Given the description of an element on the screen output the (x, y) to click on. 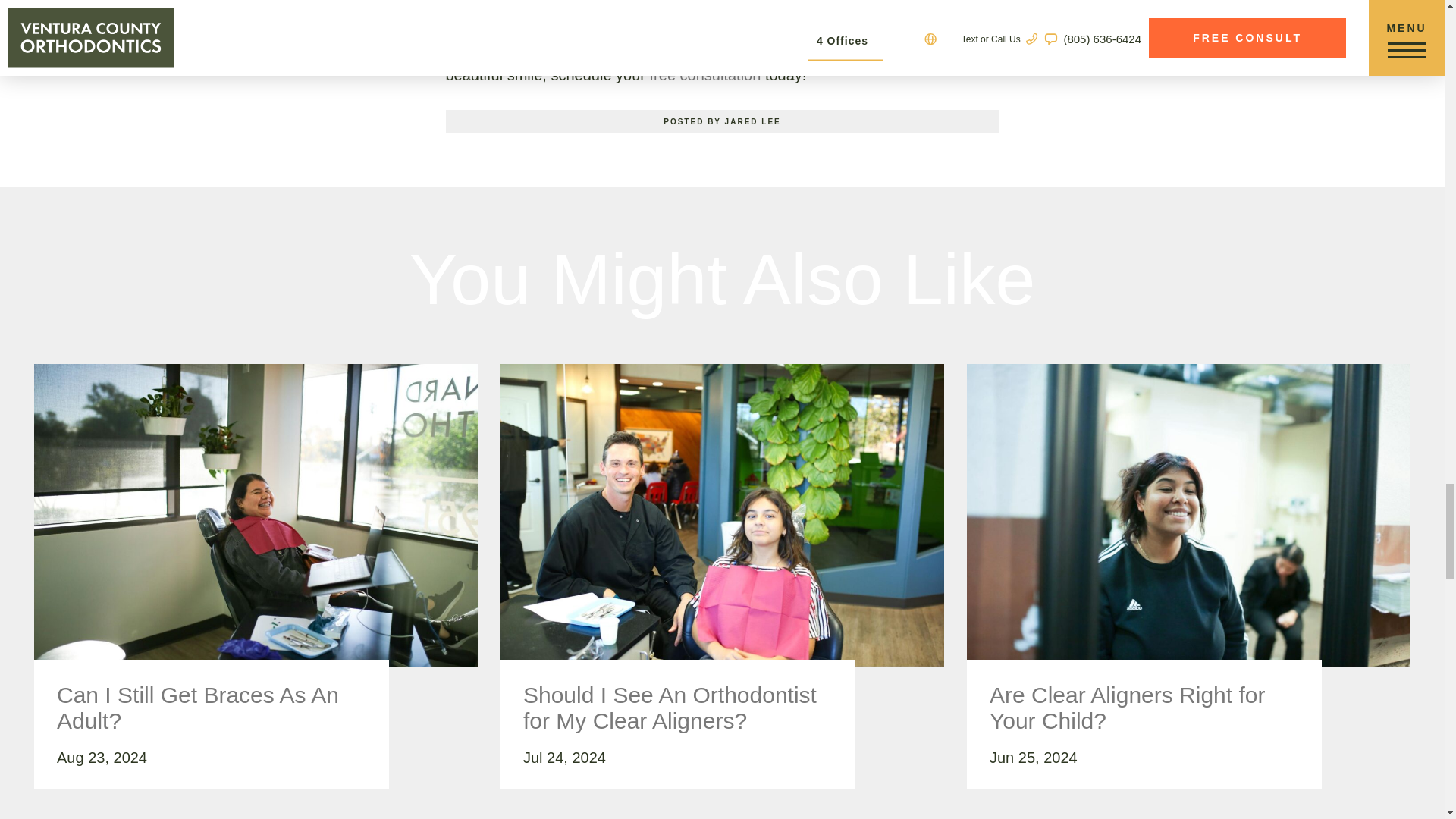
Can I Still Get Braces As An Adult? (211, 707)
Are Clear Aligners Right for Your Child? (1144, 707)
Should I See An Orthodontist for My Clear Aligners? (677, 707)
